Given the description of an element on the screen output the (x, y) to click on. 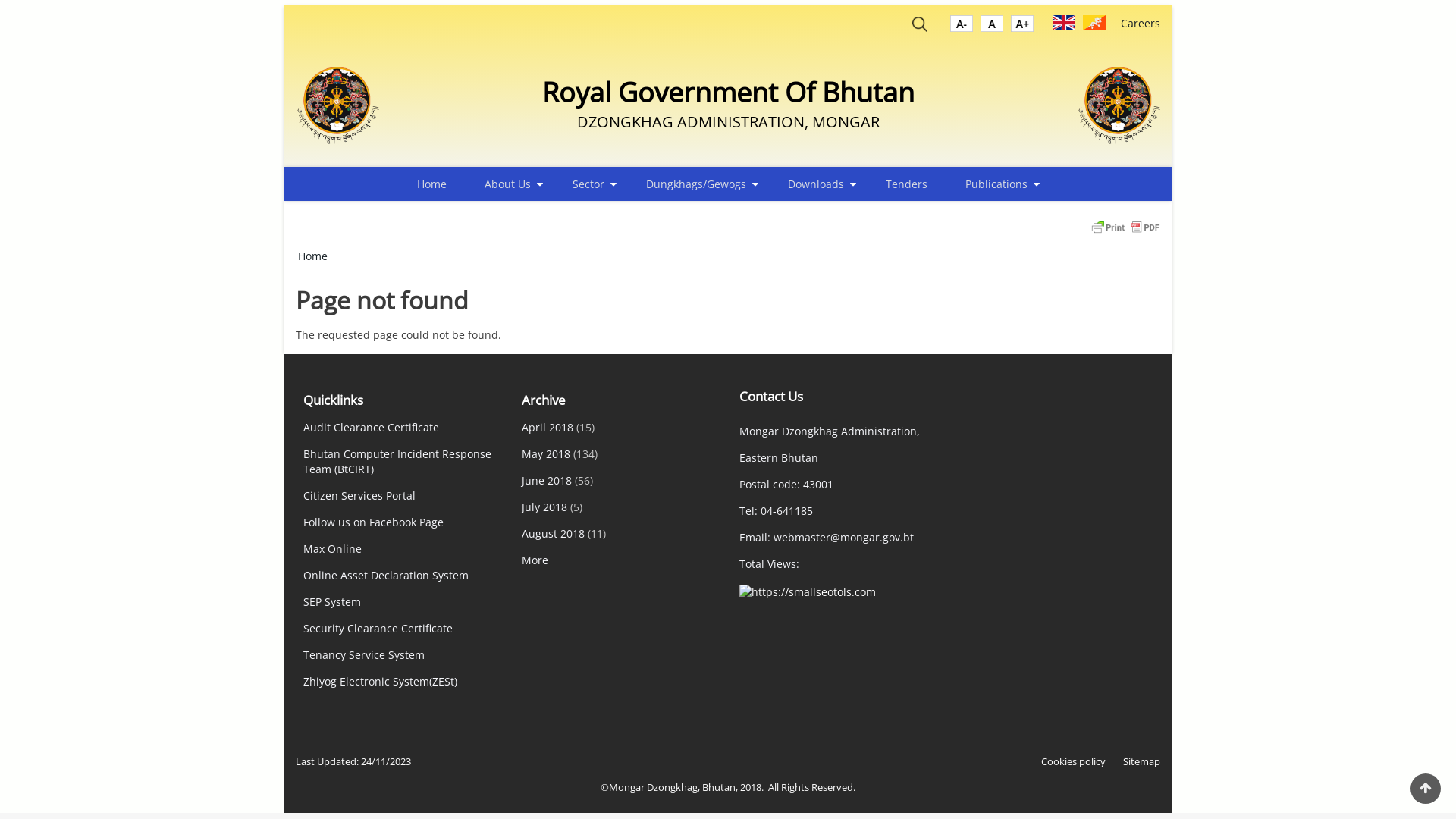
Sector Element type: text (590, 183)
Tenancy Service System Element type: text (363, 654)
Home Element type: text (431, 183)
May 2018 Element type: text (545, 453)
Home Element type: text (312, 255)
July 2018 Element type: text (544, 506)
Zhiyog Electronic System(ZESt) Element type: text (380, 681)
June 2018 Element type: text (546, 480)
Security Clearance Certificate Element type: text (377, 628)
SEP System Element type: text (331, 601)
Back to Top Element type: hover (1425, 788)
Downloads Element type: text (817, 183)
Bhutan Computer Incident Response Team (BtCIRT) Element type: text (397, 461)
April 2018 Element type: text (547, 427)
More Element type: text (534, 559)
Max Online Element type: text (332, 548)
Home Element type: hover (1118, 104)
Home Element type: hover (336, 104)
Online Asset Declaration System Element type: text (385, 574)
Citizen Services Portal Element type: text (359, 495)
A Element type: text (961, 26)
Publications Element type: text (998, 183)
Follow us on Facebook Page Element type: text (373, 521)
Cookies policy Element type: text (1073, 761)
https://smallseotols.com Element type: hover (807, 590)
Careers Element type: text (1140, 22)
About Us Element type: text (509, 183)
Skip to main content Element type: text (0, 0)
Audit Clearance Certificate Element type: text (371, 427)
Dungkhags/Gewogs Element type: text (697, 183)
Sitemap Element type: text (1141, 761)
A Element type: text (991, 26)
A Element type: text (1021, 26)
Royal Government Of Bhutan Element type: text (727, 91)
August 2018 Element type: text (552, 533)
Tenders Element type: text (906, 183)
Search Element type: text (919, 26)
Printer Friendly, PDF & Email Element type: hover (1125, 226)
